Given the description of an element on the screen output the (x, y) to click on. 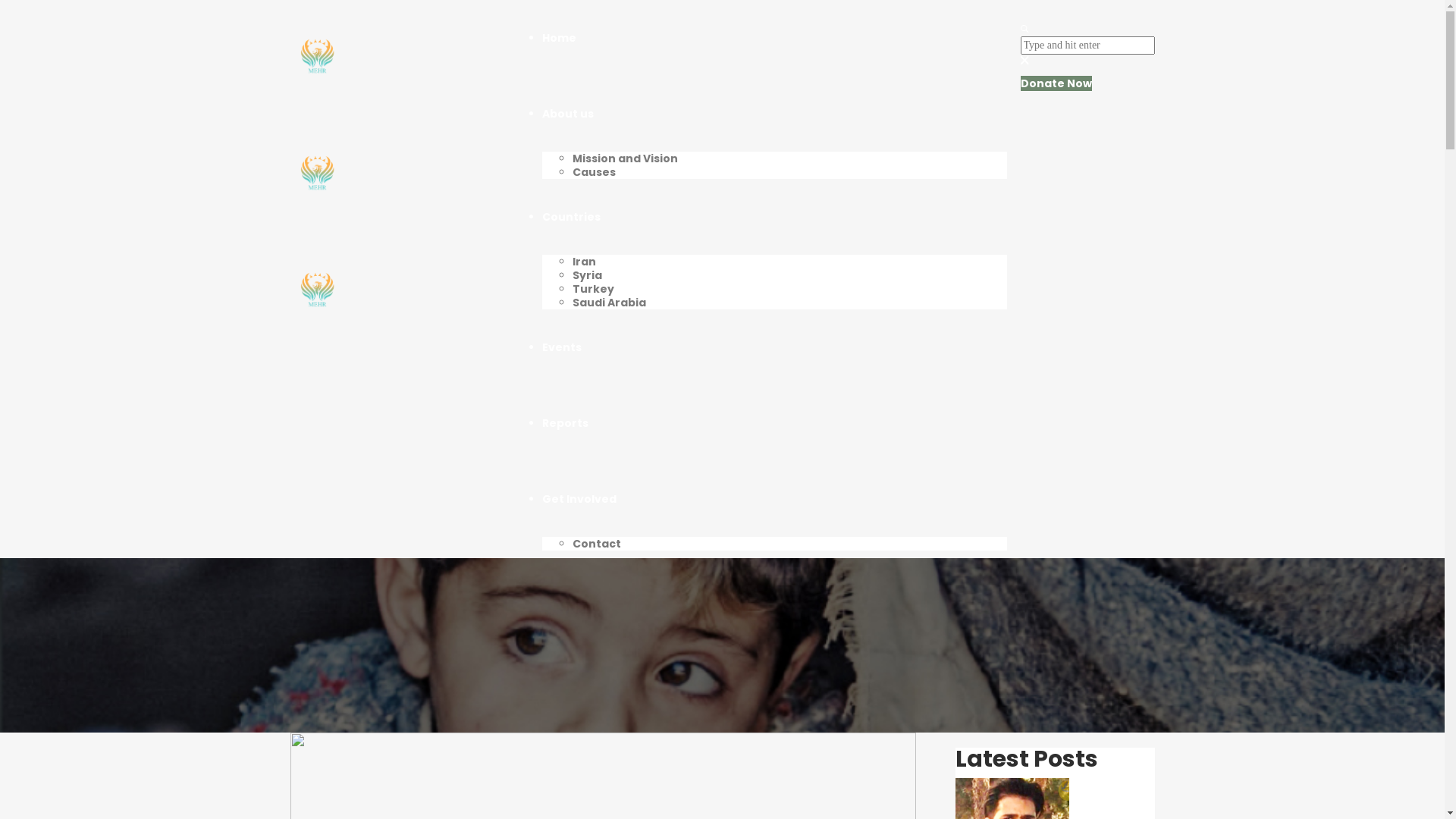
Saudi Arabia Element type: text (609, 302)
Mission and Vision Element type: text (624, 158)
Causes Element type: text (593, 171)
Home Element type: text (559, 37)
Turkey Element type: text (593, 288)
Get Involved Element type: text (579, 498)
Iran Element type: text (584, 261)
Countries Element type: text (571, 216)
Contact Element type: text (596, 543)
Syria Element type: text (587, 274)
Reports Element type: text (565, 422)
Reports Element type: text (464, 614)
Middle East Human Rights Center Element type: text (362, 614)
About us Element type: text (567, 113)
Events Element type: text (561, 346)
Donate Now Element type: text (1056, 83)
